Given the description of an element on the screen output the (x, y) to click on. 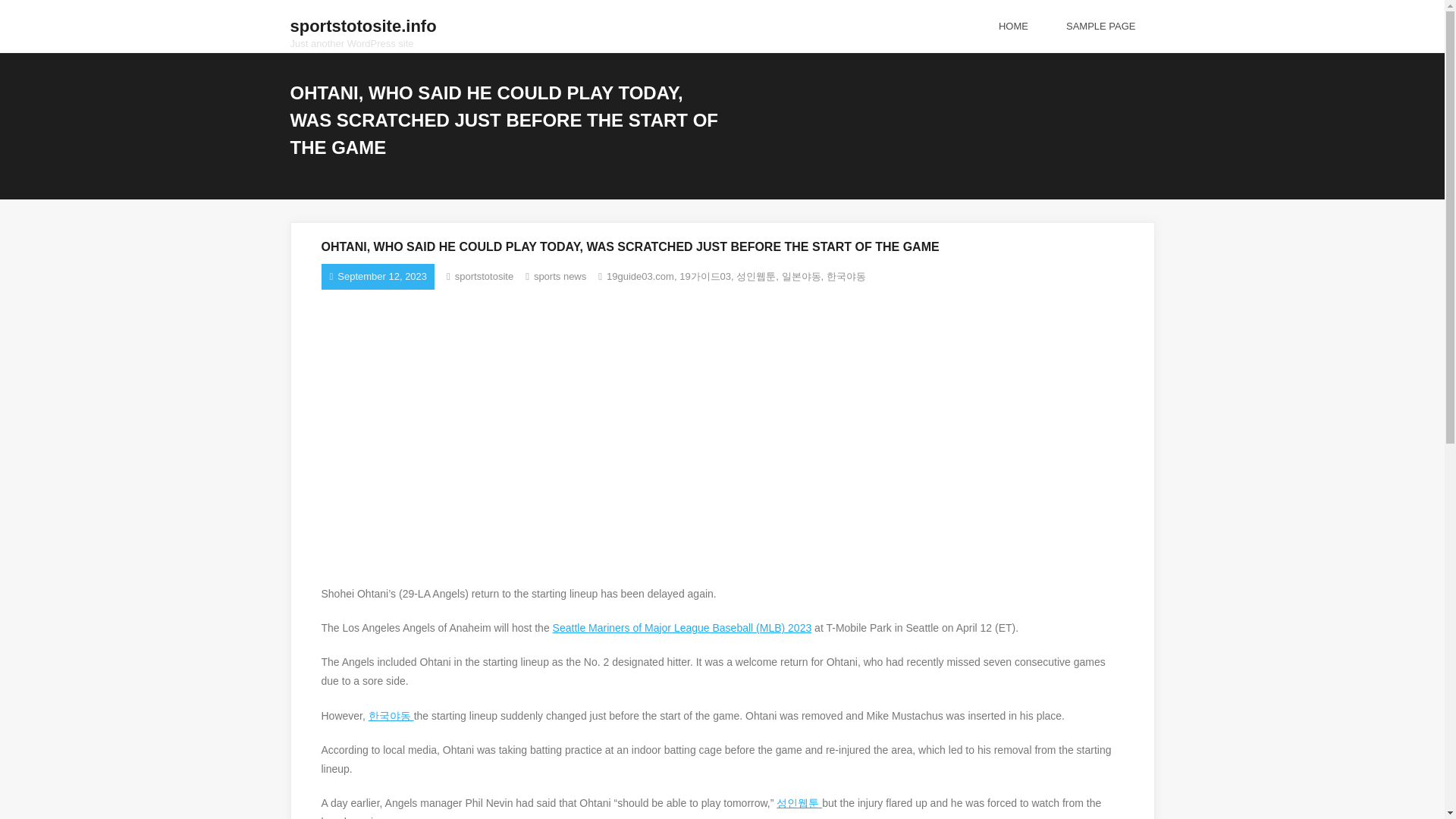
sportstotosite.info (362, 26)
SAMPLE PAGE (1100, 26)
sports news (560, 276)
Just another WordPress site (362, 27)
View all posts by sportstotosite (362, 43)
HOME (483, 276)
sportstotosite (1012, 26)
September 12, 2023 (483, 276)
